Given the description of an element on the screen output the (x, y) to click on. 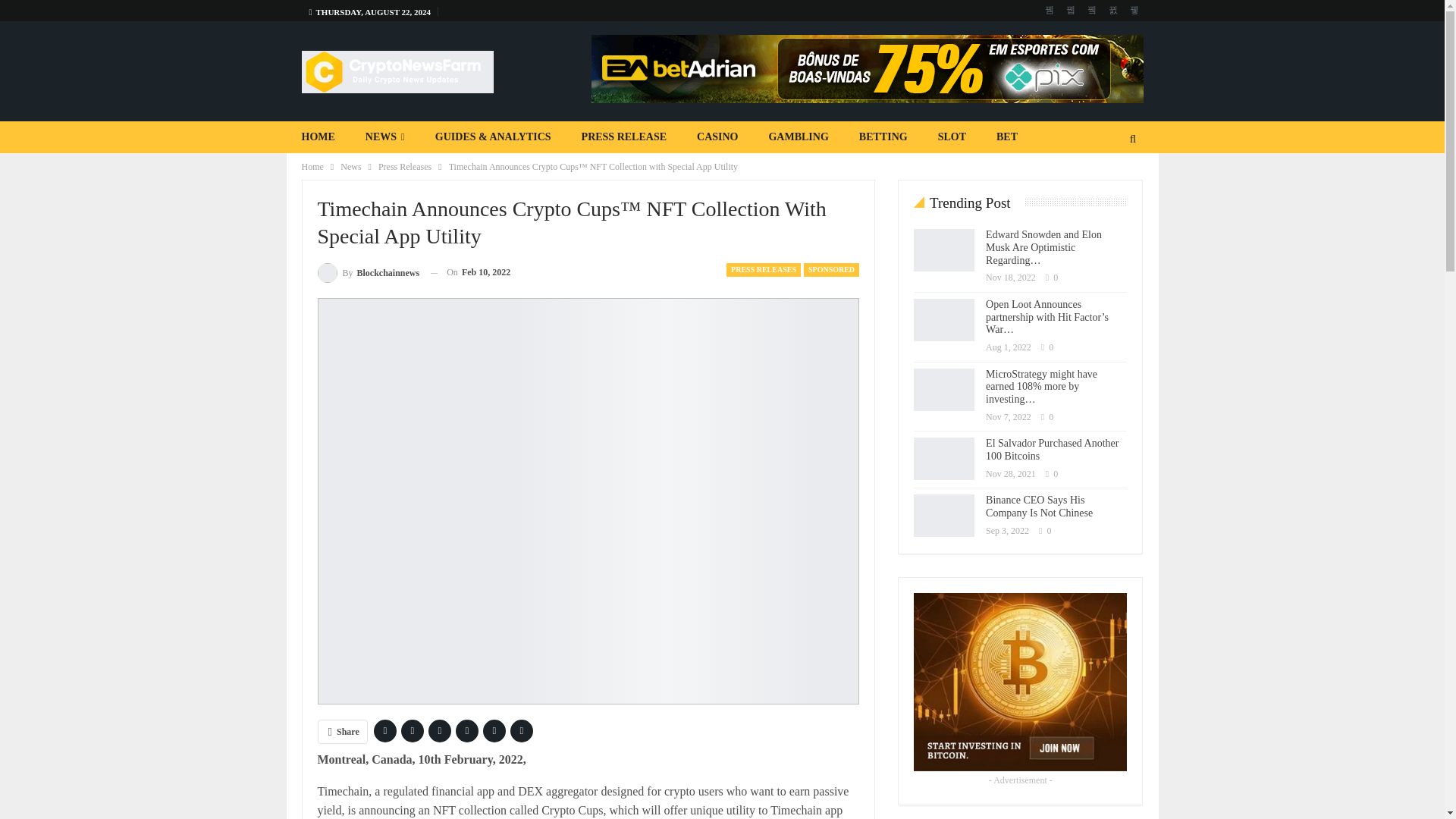
CASINO (716, 137)
BET (1006, 137)
HOME (318, 137)
REVIEWS (435, 169)
Browse Author Articles (368, 272)
Press Releases (404, 166)
SPONSORED (831, 269)
By Blockchainnews (368, 272)
PRESS RELEASE (623, 137)
EXCHANGE (521, 169)
